Given the description of an element on the screen output the (x, y) to click on. 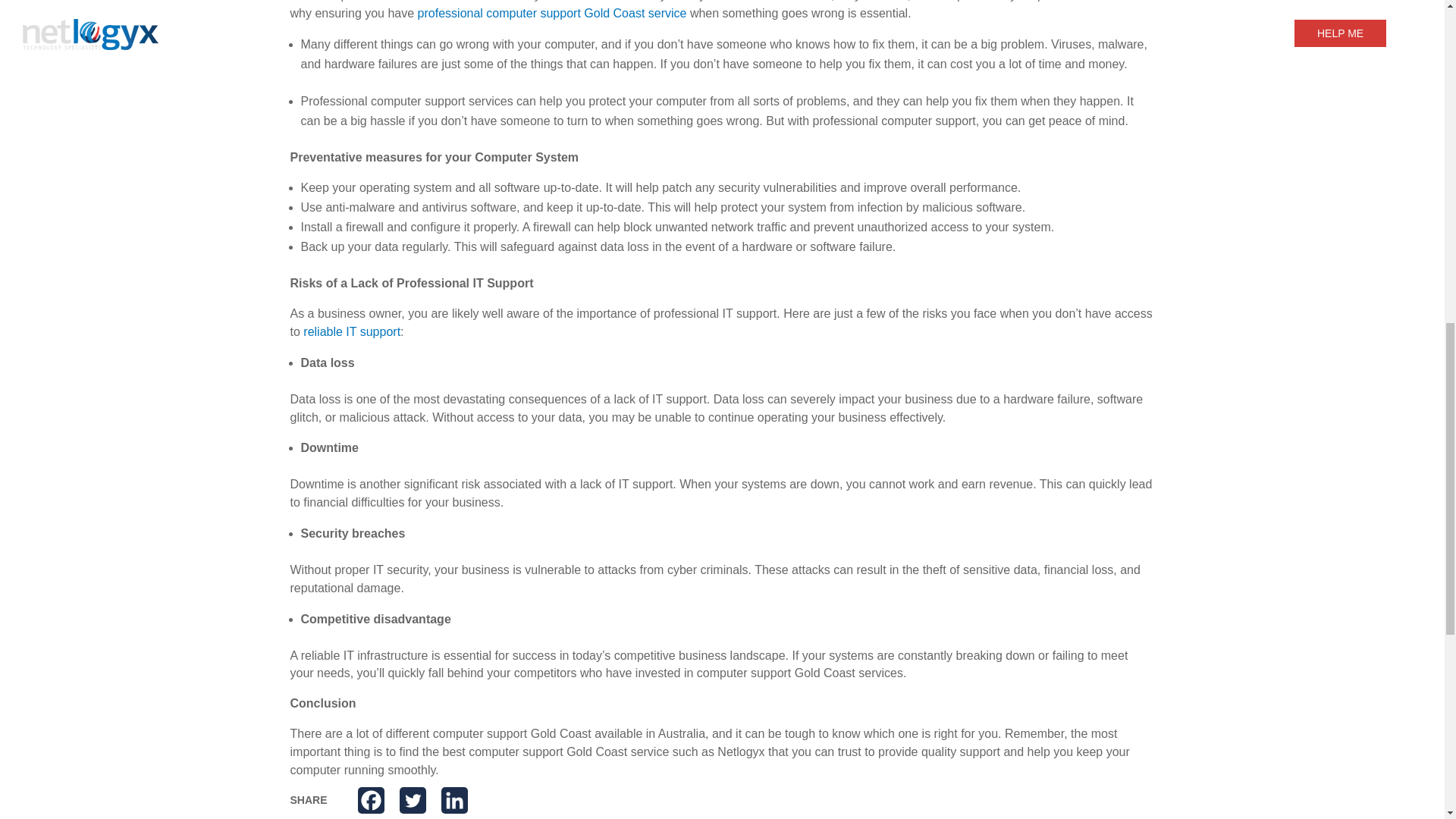
reliable IT support (351, 331)
Linkedin (454, 800)
Twitter (412, 800)
professional computer support Gold Coast service (552, 12)
Facebook (371, 800)
